Given the description of an element on the screen output the (x, y) to click on. 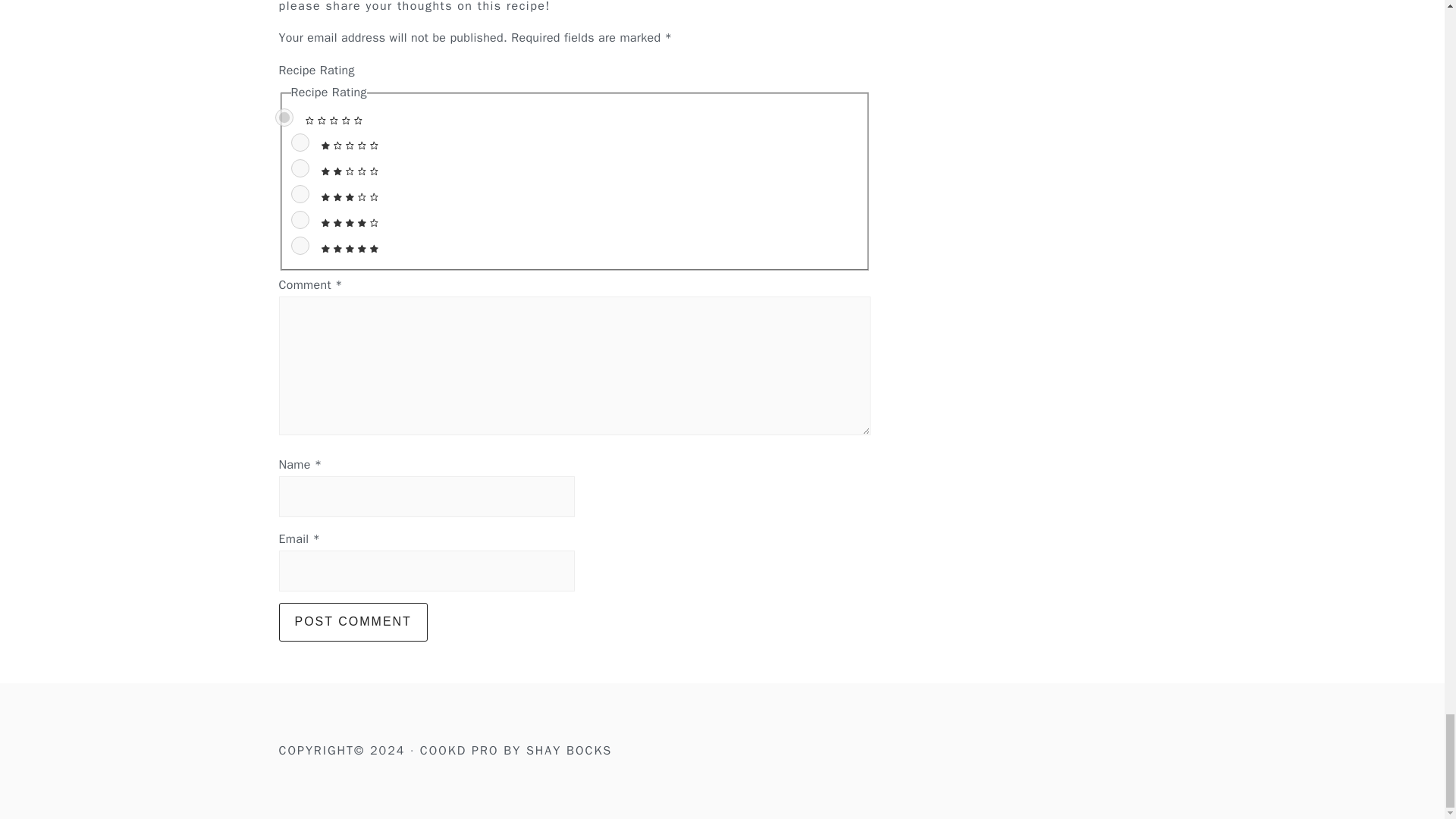
5 (299, 245)
Post Comment (353, 621)
2 (299, 167)
0 (283, 117)
1 (299, 142)
4 (299, 219)
3 (299, 194)
